Given the description of an element on the screen output the (x, y) to click on. 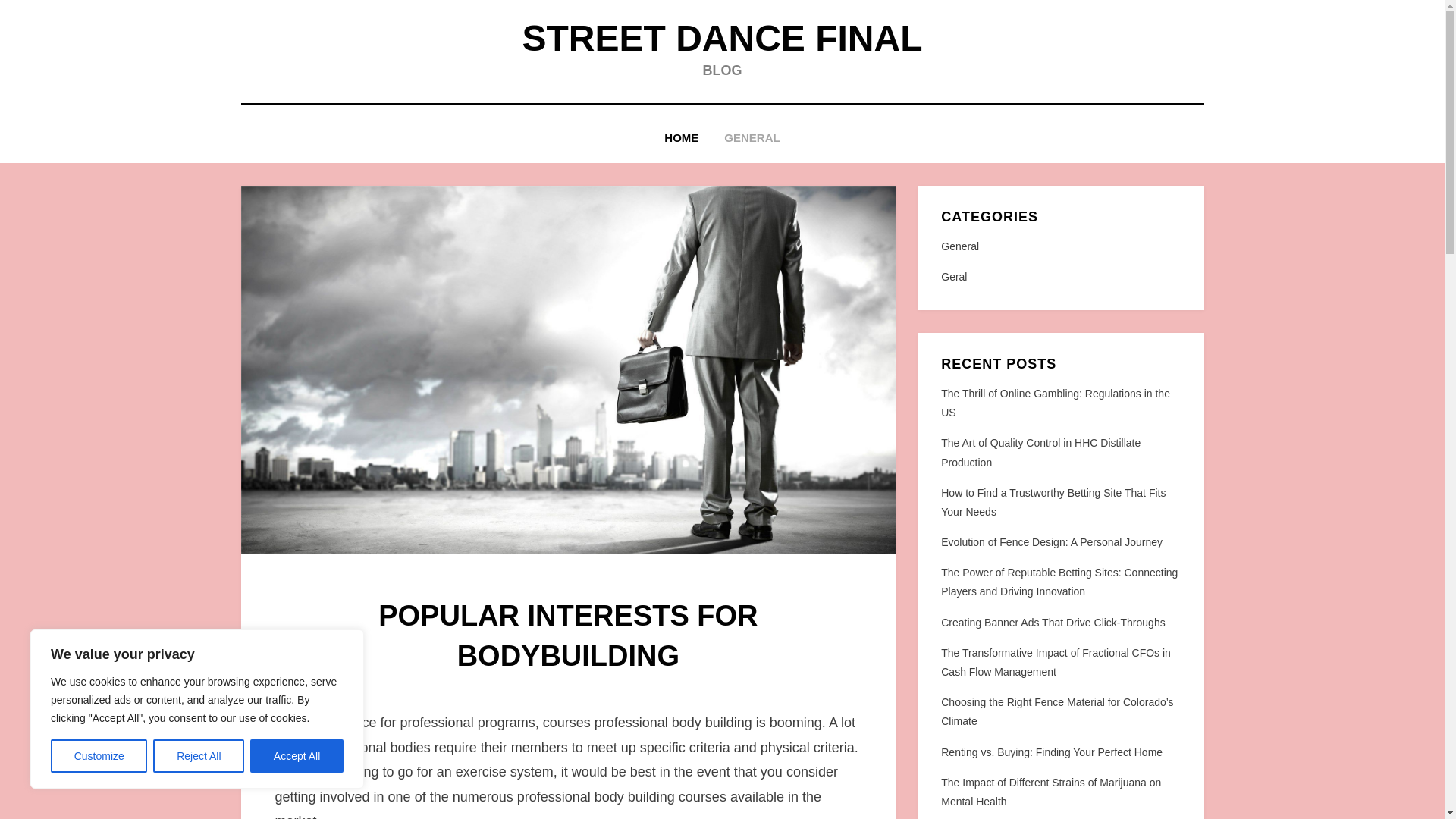
HOME (680, 137)
Accept All (296, 756)
GENERAL (751, 137)
General (1060, 246)
The Thrill of Online Gambling: Regulations in the US (1055, 402)
Geral (1060, 276)
Evolution of Fence Design: A Personal Journey (1050, 541)
Customize (98, 756)
How to Find a Trustworthy Betting Site That Fits Your Needs (1053, 501)
STREET DANCE FINAL (721, 38)
Reject All (198, 756)
Street Dance Final (721, 38)
The Art of Quality Control in HHC Distillate Production (1040, 451)
